Given the description of an element on the screen output the (x, y) to click on. 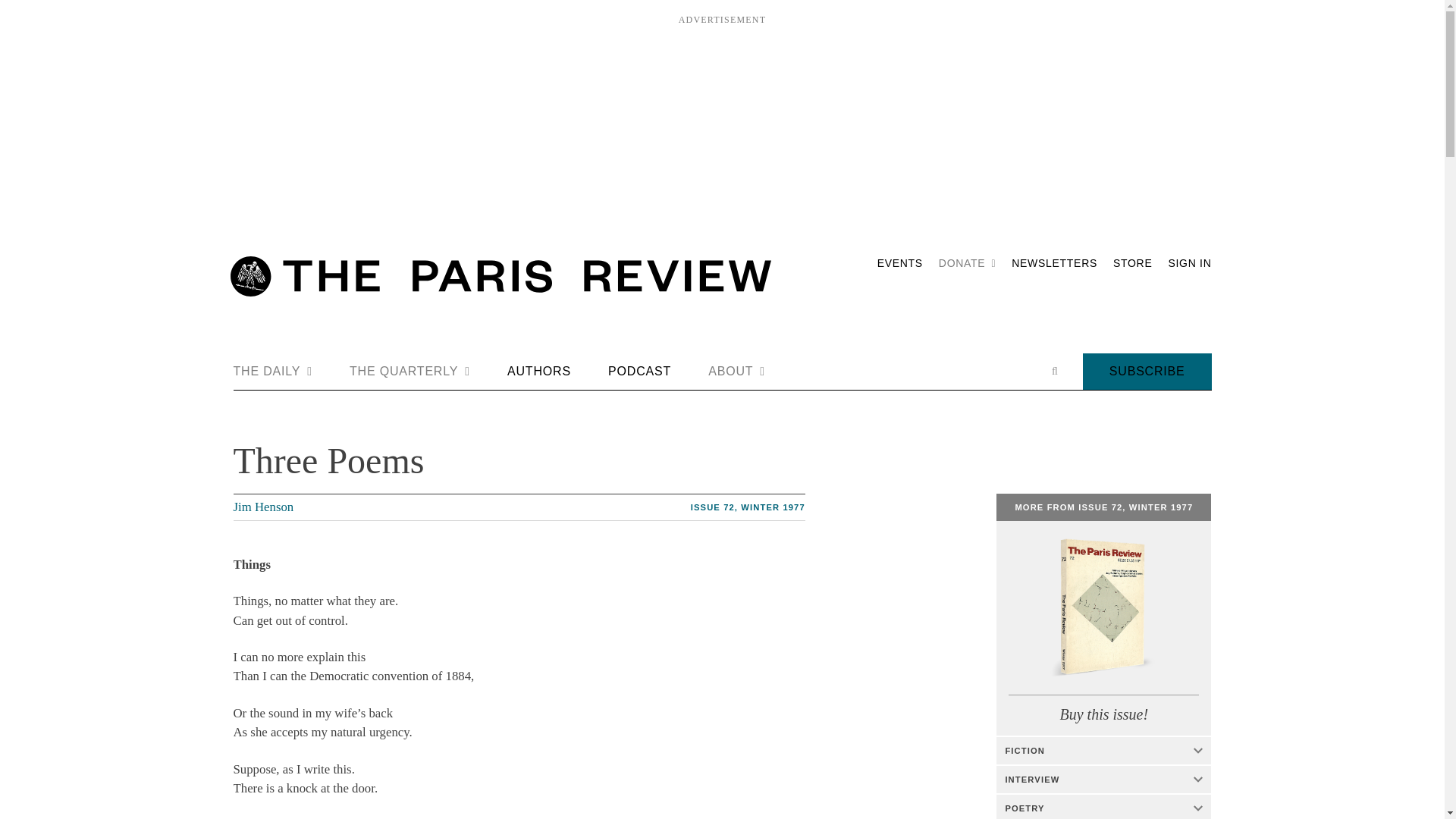
Open search (1054, 371)
THE DAILY (272, 371)
THE QUARTERLY (409, 371)
